Given the description of an element on the screen output the (x, y) to click on. 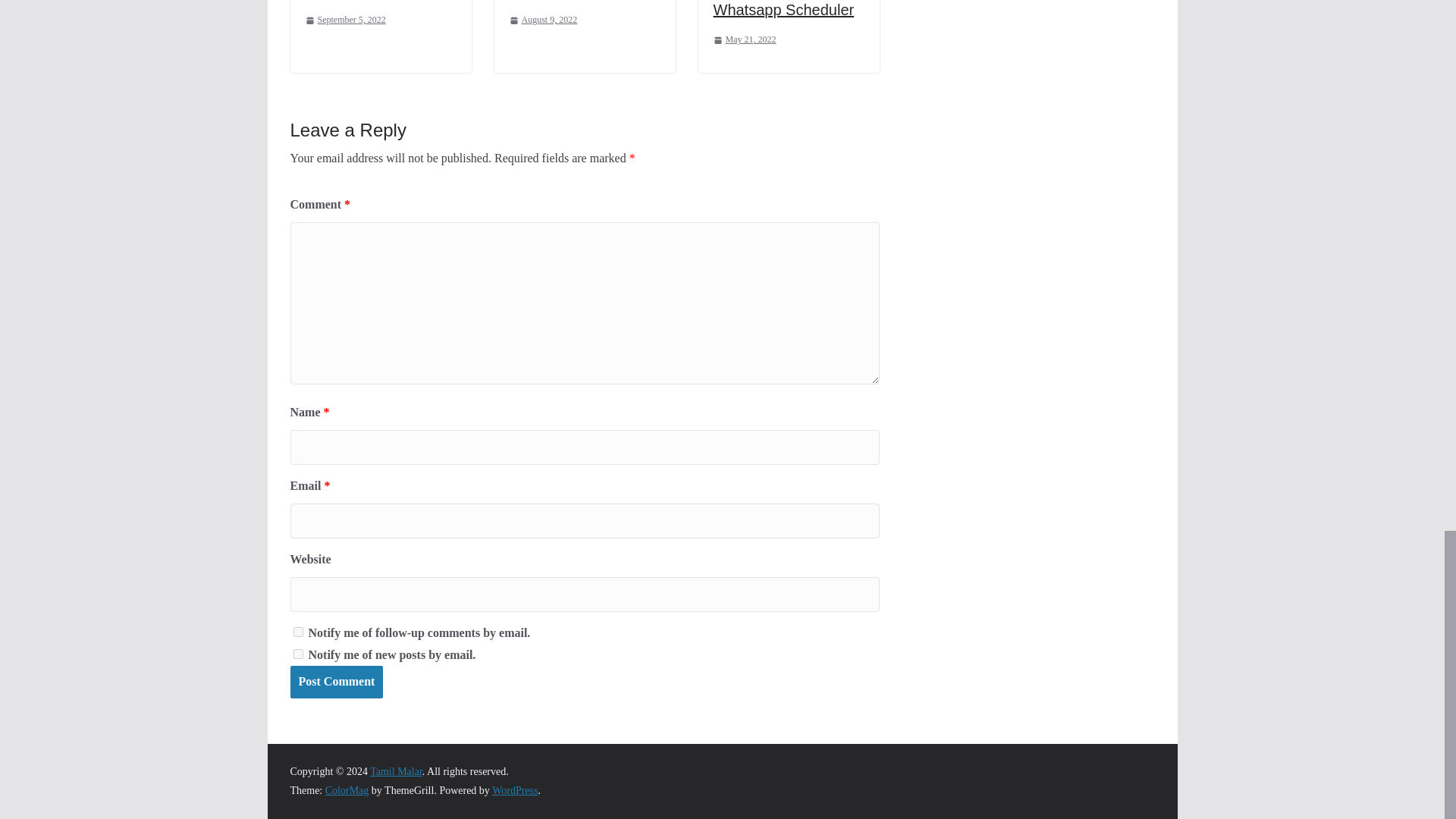
subscribe (297, 654)
Post Comment (335, 681)
Post Comment (335, 681)
August 9, 2022 (543, 20)
subscribe (297, 632)
May 21, 2022 (744, 39)
September 5, 2022 (344, 20)
